Given the description of an element on the screen output the (x, y) to click on. 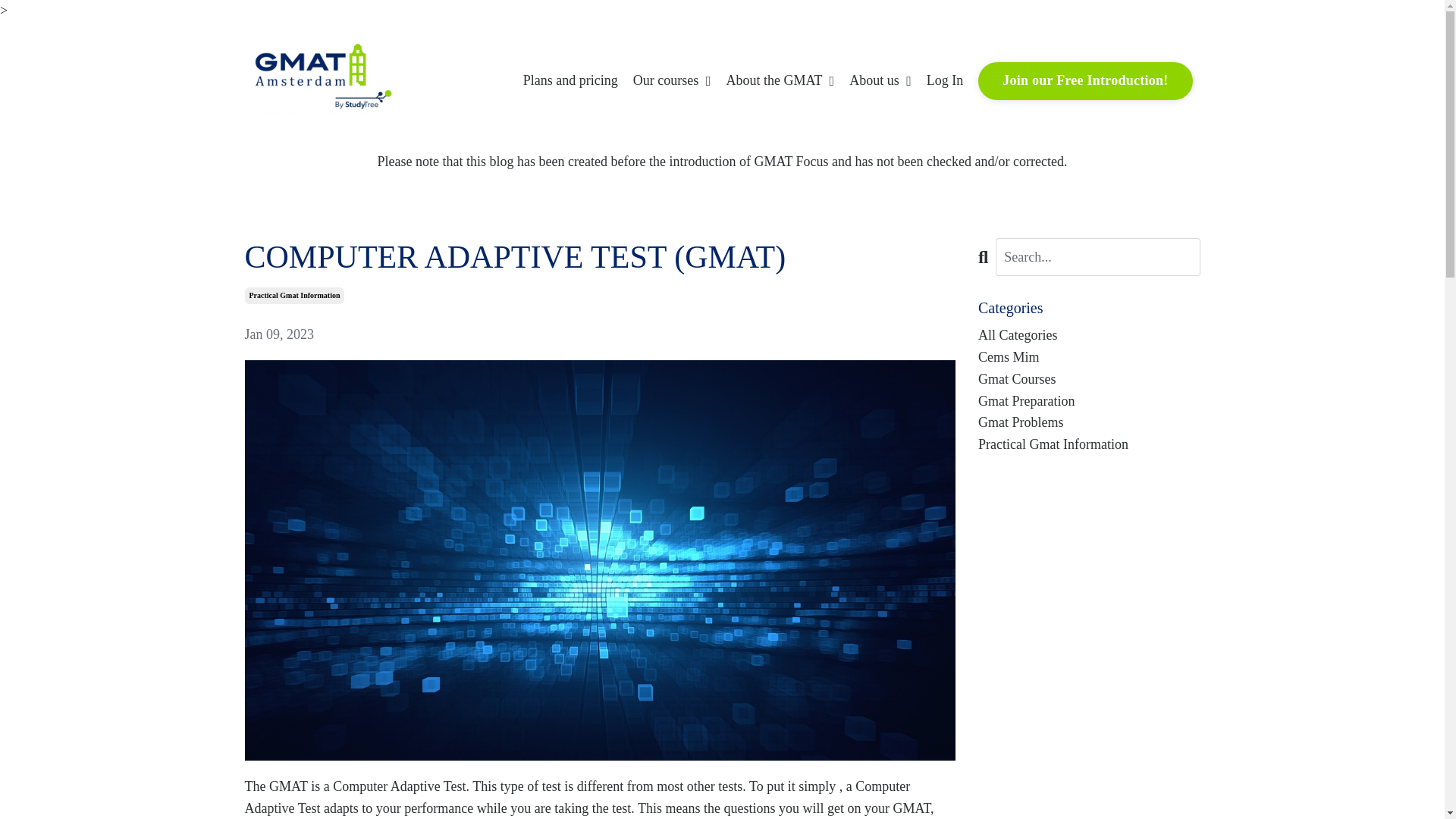
Gmat Problems (1088, 422)
About the GMAT (779, 80)
Plans and pricing (569, 80)
All Categories (1088, 335)
Log In (944, 79)
Our courses (672, 80)
Cems Mim (1088, 357)
Join our Free Introduction! (1085, 80)
About us (879, 80)
Practical Gmat Information (293, 295)
